Given the description of an element on the screen output the (x, y) to click on. 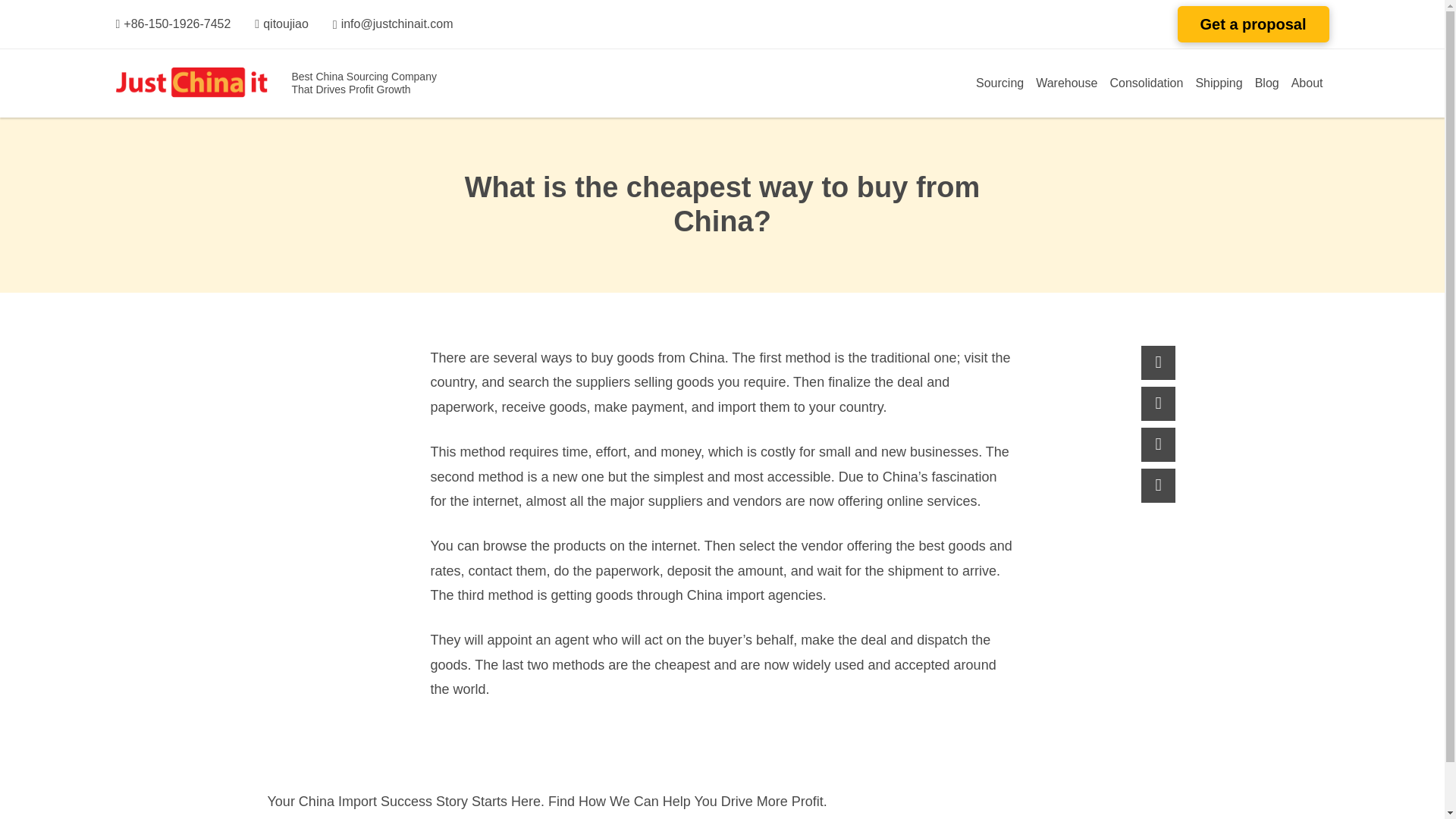
Get a proposal (1251, 23)
About (1307, 83)
Blog (1267, 83)
Consolidation (1146, 83)
qitoujiao (280, 24)
Warehouse (1066, 83)
Shipping (1218, 83)
Sourcing (999, 83)
